Given the description of an element on the screen output the (x, y) to click on. 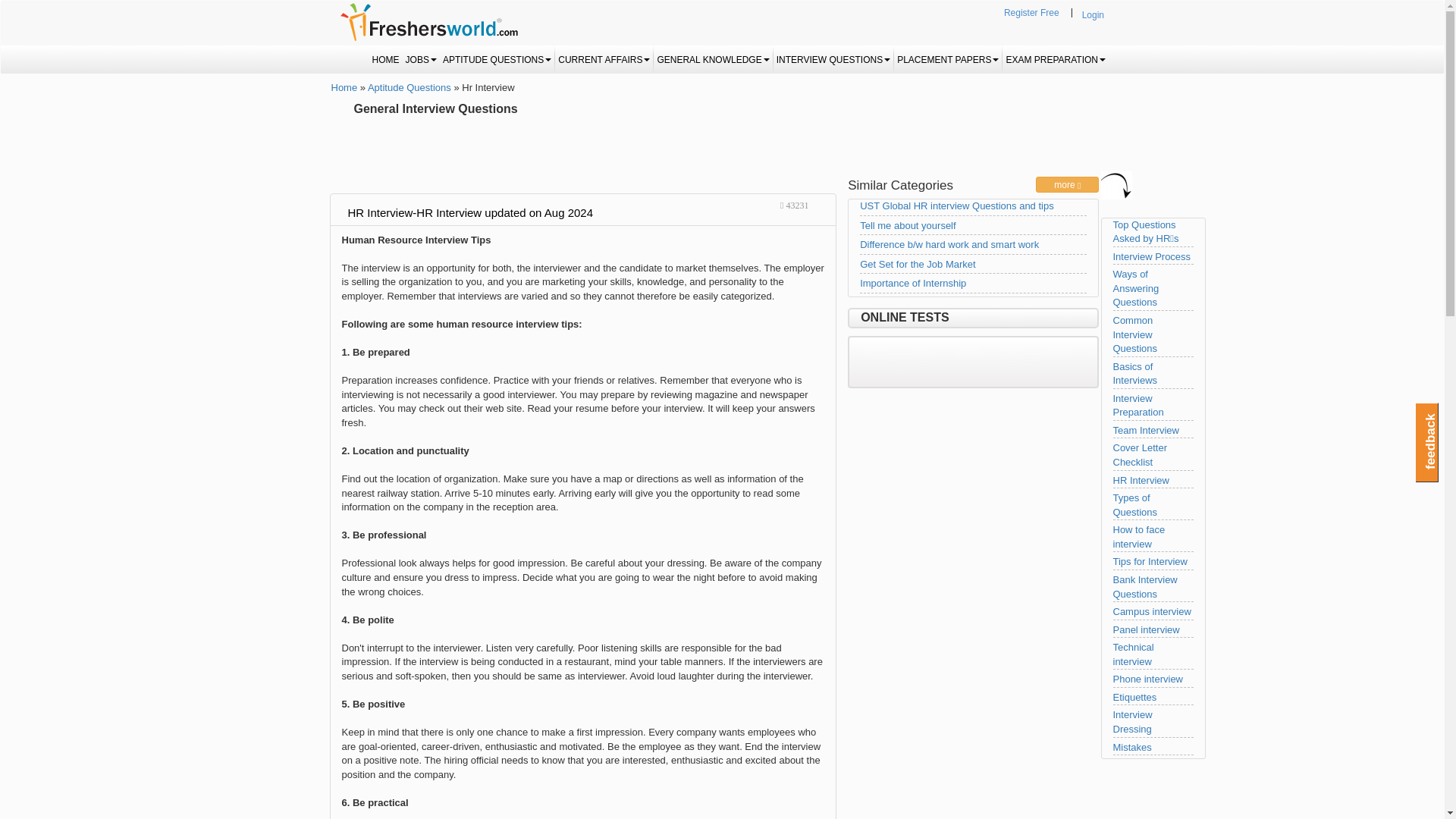
HOME (386, 59)
JOBS (421, 59)
India's No.1 Job Portal for freshers - Freshersworld.com (428, 21)
HOME (386, 59)
Register Free (1031, 13)
JOBS (421, 59)
Login (1092, 15)
